Given the description of an element on the screen output the (x, y) to click on. 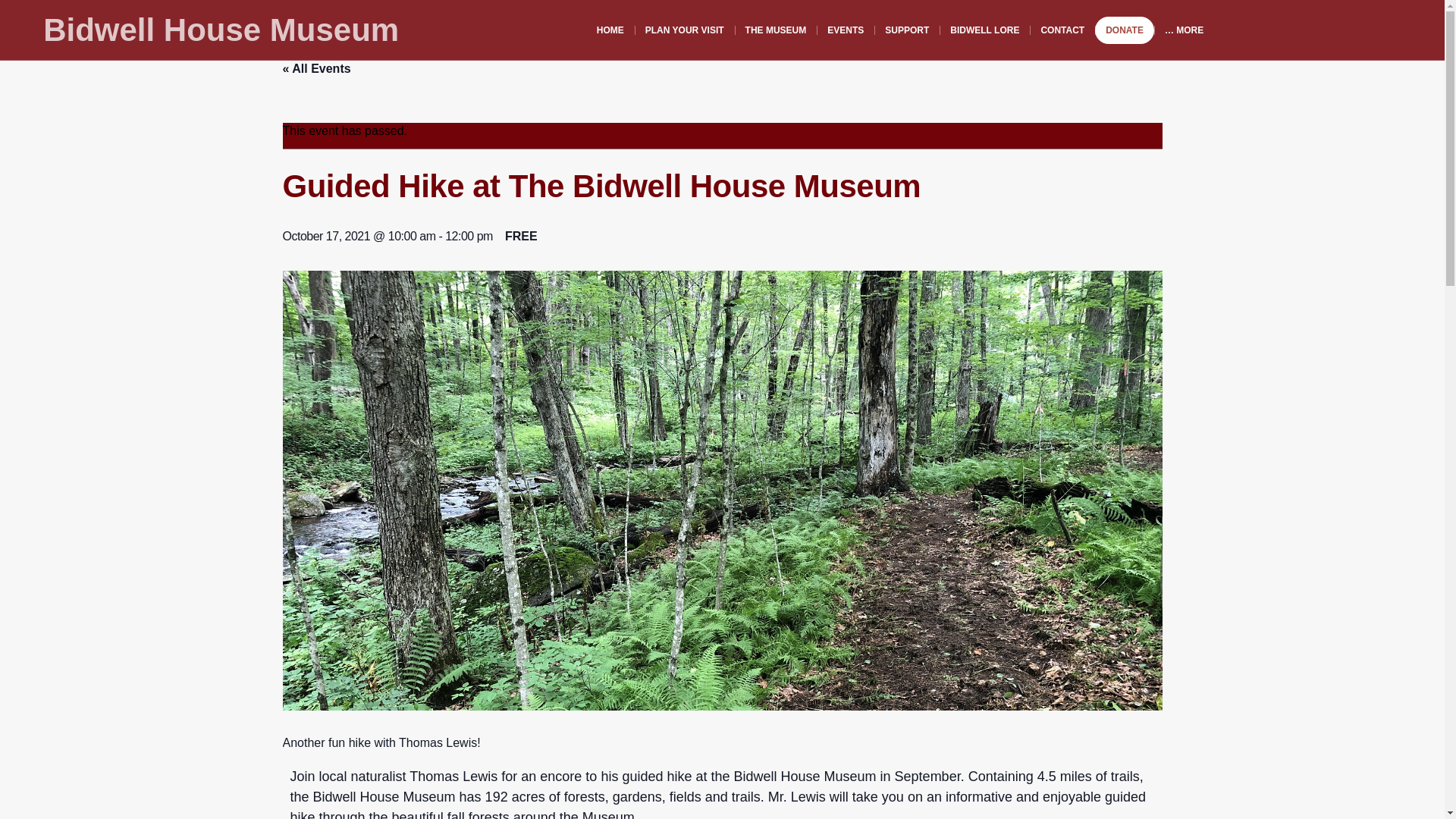
PLAN YOUR VISIT (684, 29)
CONTACT (1061, 29)
SUPPORT (907, 29)
DONATE (1124, 29)
Bidwell House Museum (220, 29)
EVENTS (845, 29)
BIDWELL LORE (984, 29)
Bidwell House Museum (220, 29)
THE MUSEUM (775, 29)
